Given the description of an element on the screen output the (x, y) to click on. 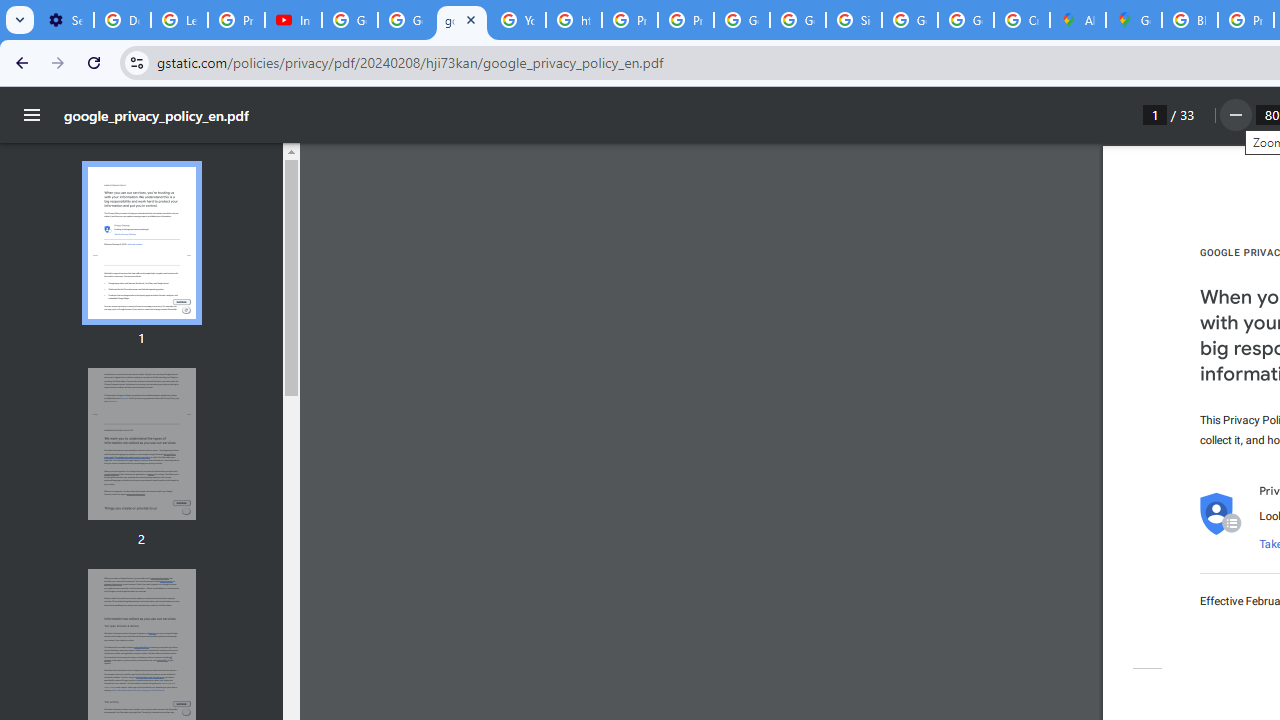
Learn how to find your photos - Google Photos Help (179, 20)
Introduction | Google Privacy Policy - YouTube (293, 20)
Page number (1155, 114)
Thumbnail for page 1 (141, 243)
google_privacy_policy_en.pdf (461, 20)
Settings - Customize profile (65, 20)
